Given the description of an element on the screen output the (x, y) to click on. 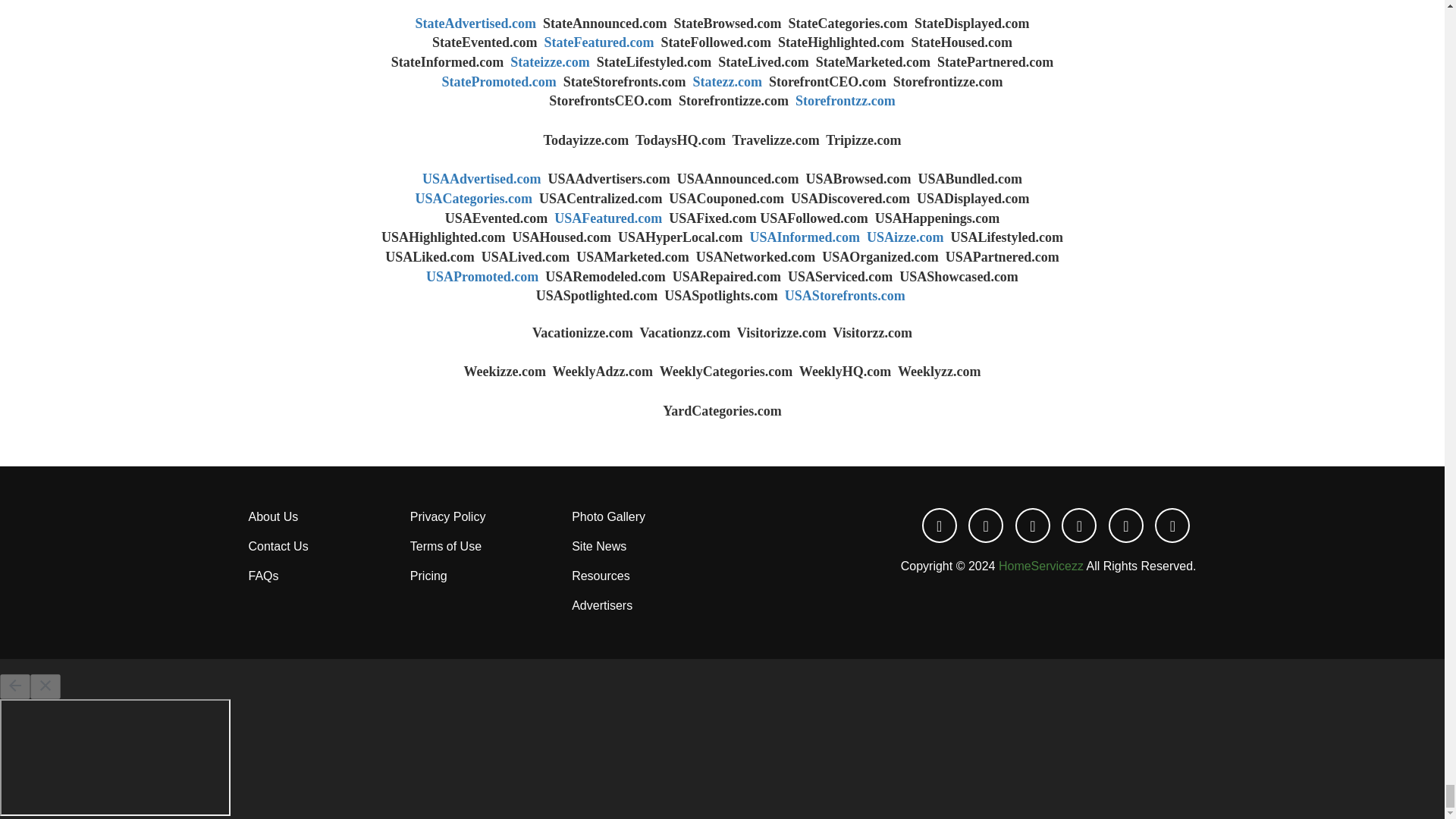
Follow Us on Pinterest (1128, 525)
Follow Us on Linked In (1034, 525)
Follow Us on You Tube (1081, 525)
Follow Us on Twitter (987, 525)
Follow Us on Instagram (1172, 525)
Follow Us on Facebook (941, 525)
